Given the description of an element on the screen output the (x, y) to click on. 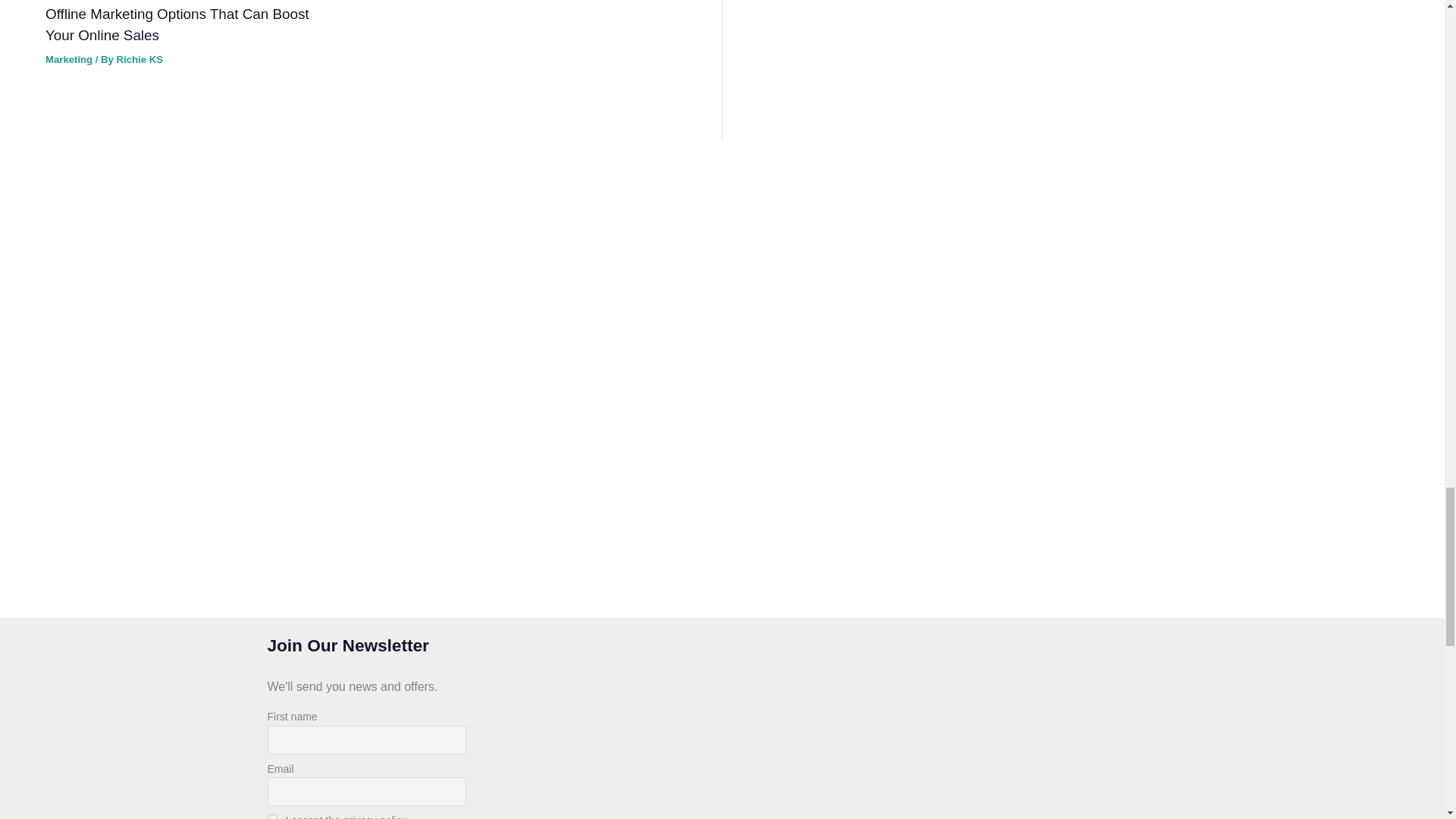
on (271, 816)
Marketing (69, 59)
Offline Marketing Options That Can Boost Your Online Sales (176, 24)
Richie KS (139, 59)
View all posts by Richie KS (139, 59)
